Given the description of an element on the screen output the (x, y) to click on. 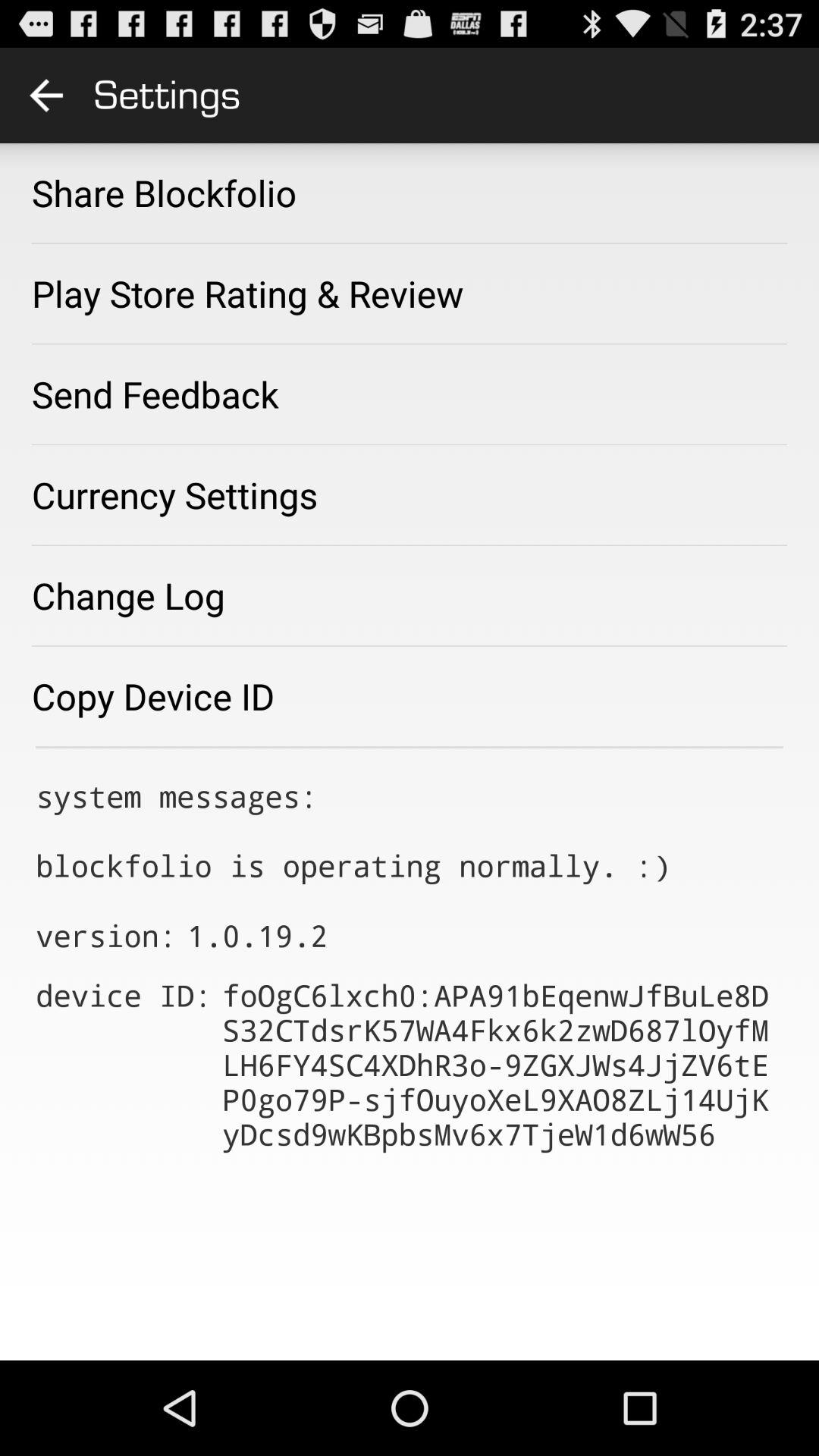
select the icon below share blockfolio (247, 293)
